Given the description of an element on the screen output the (x, y) to click on. 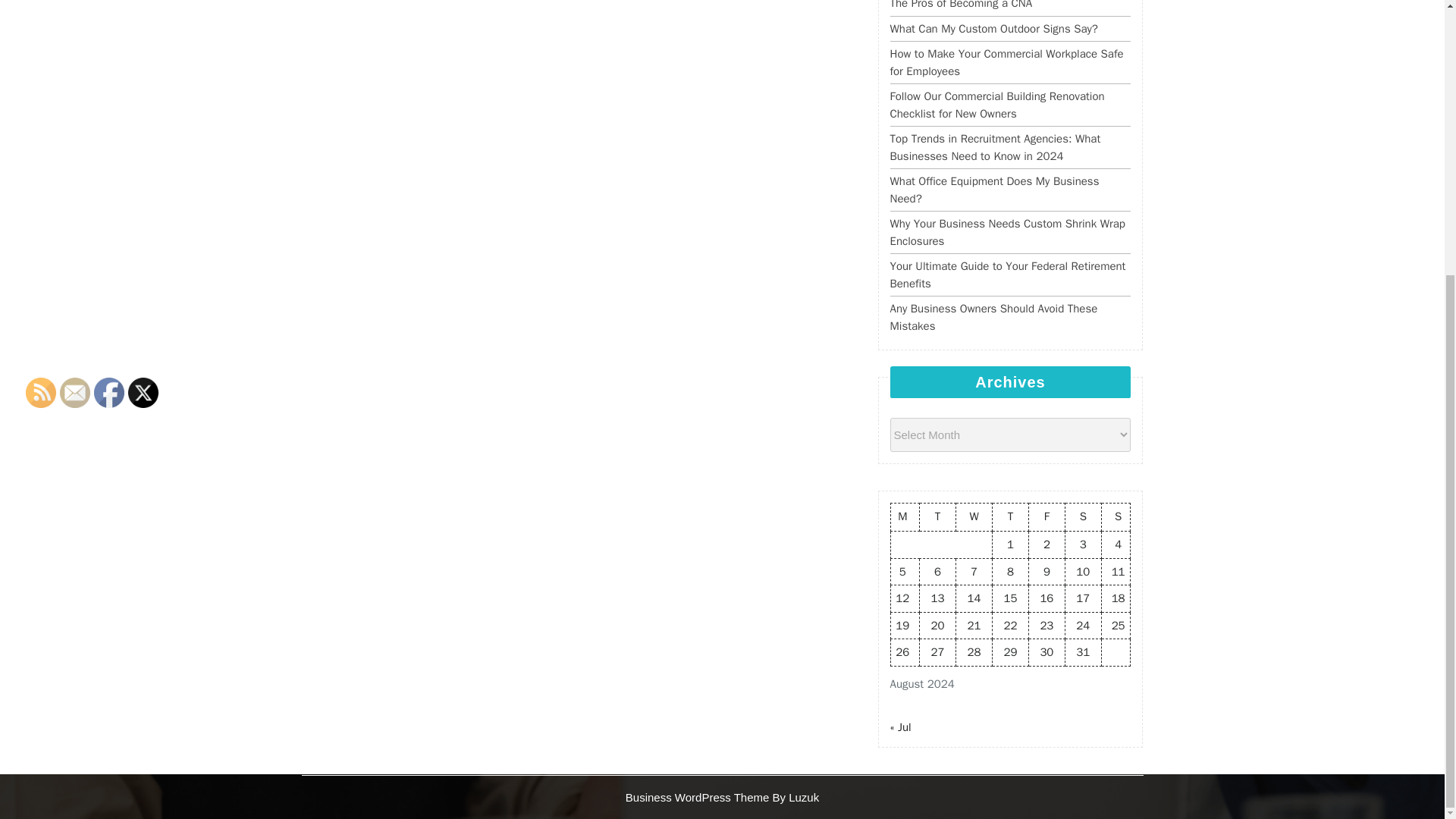
Sunday (1115, 517)
Thursday (1009, 517)
Friday (1045, 517)
What Office Equipment Does My Business Need? (994, 189)
RSS (41, 391)
Monday (904, 517)
Twitter (143, 391)
Tuesday (938, 517)
Facebook (108, 391)
